Given the description of an element on the screen output the (x, y) to click on. 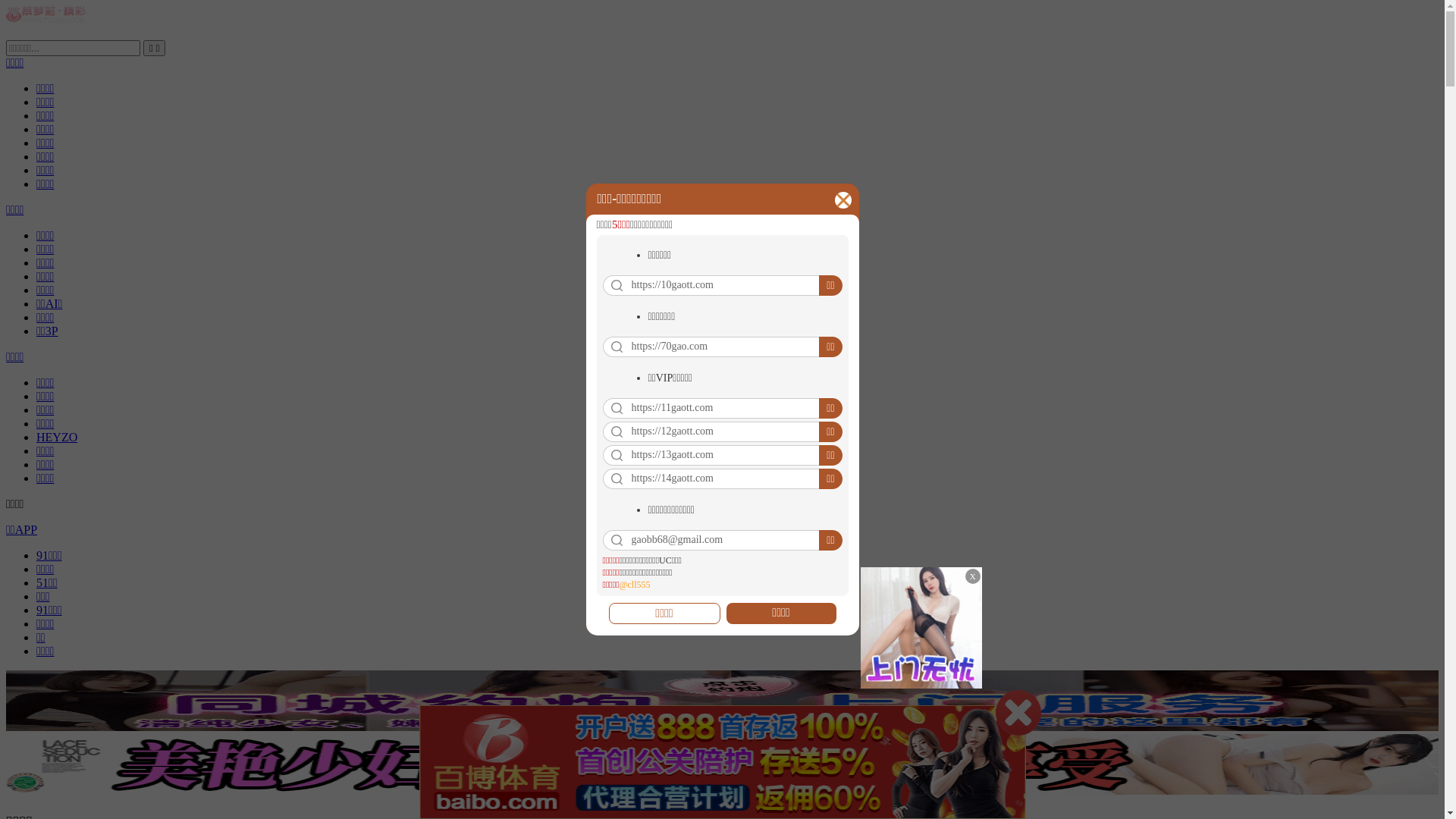
@cll555 Element type: text (633, 584)
HEYZO Element type: text (56, 436)
